Given the description of an element on the screen output the (x, y) to click on. 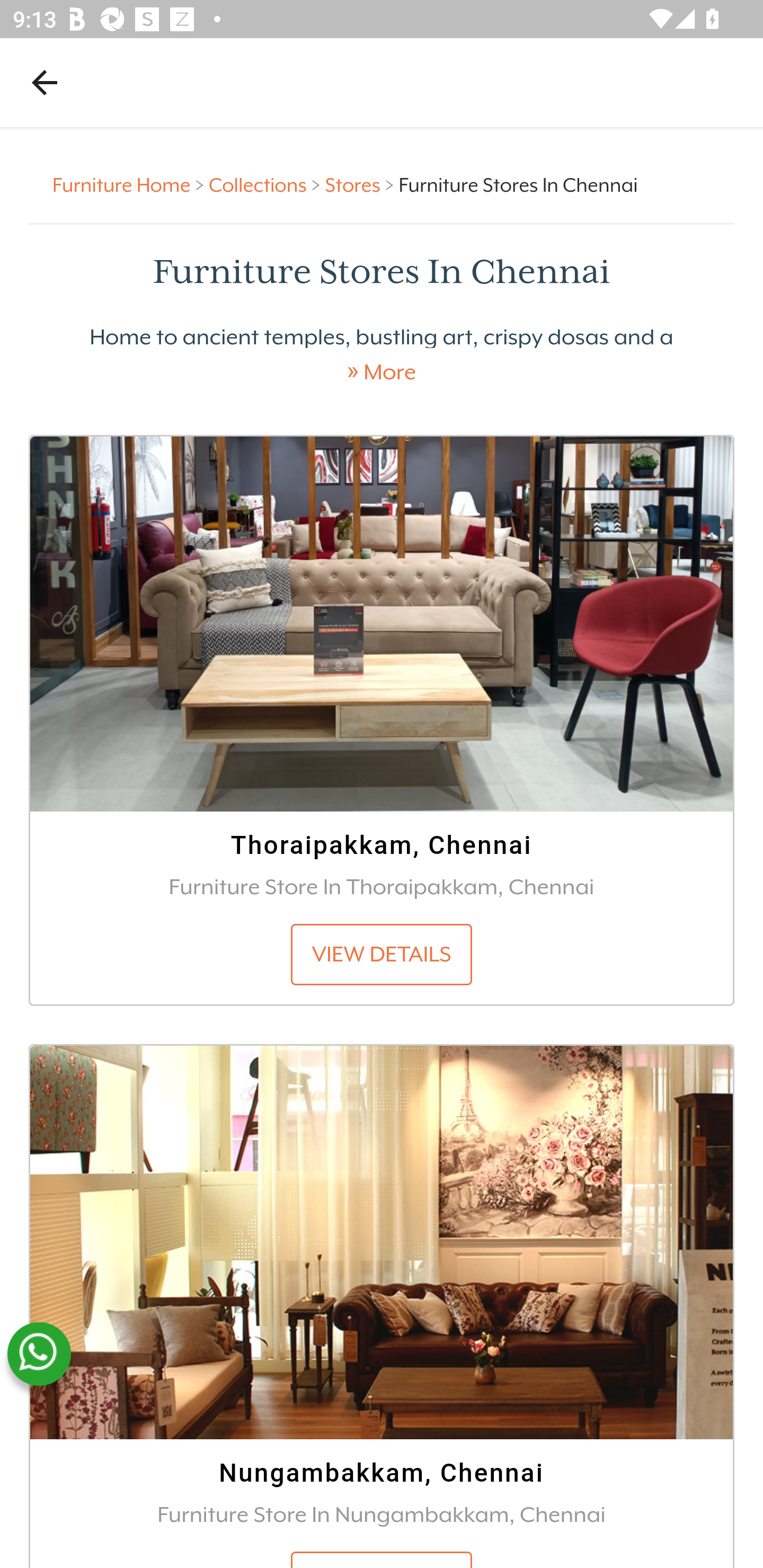
Navigate up (44, 82)
Furniture Home >  Furniture Home  >  (130, 184)
Collections >  Collections  >  (266, 184)
Stores >  Stores  >  (361, 184)
» More (381, 372)
VIEW DETAILS (381, 953)
whatsapp (38, 1353)
